Given the description of an element on the screen output the (x, y) to click on. 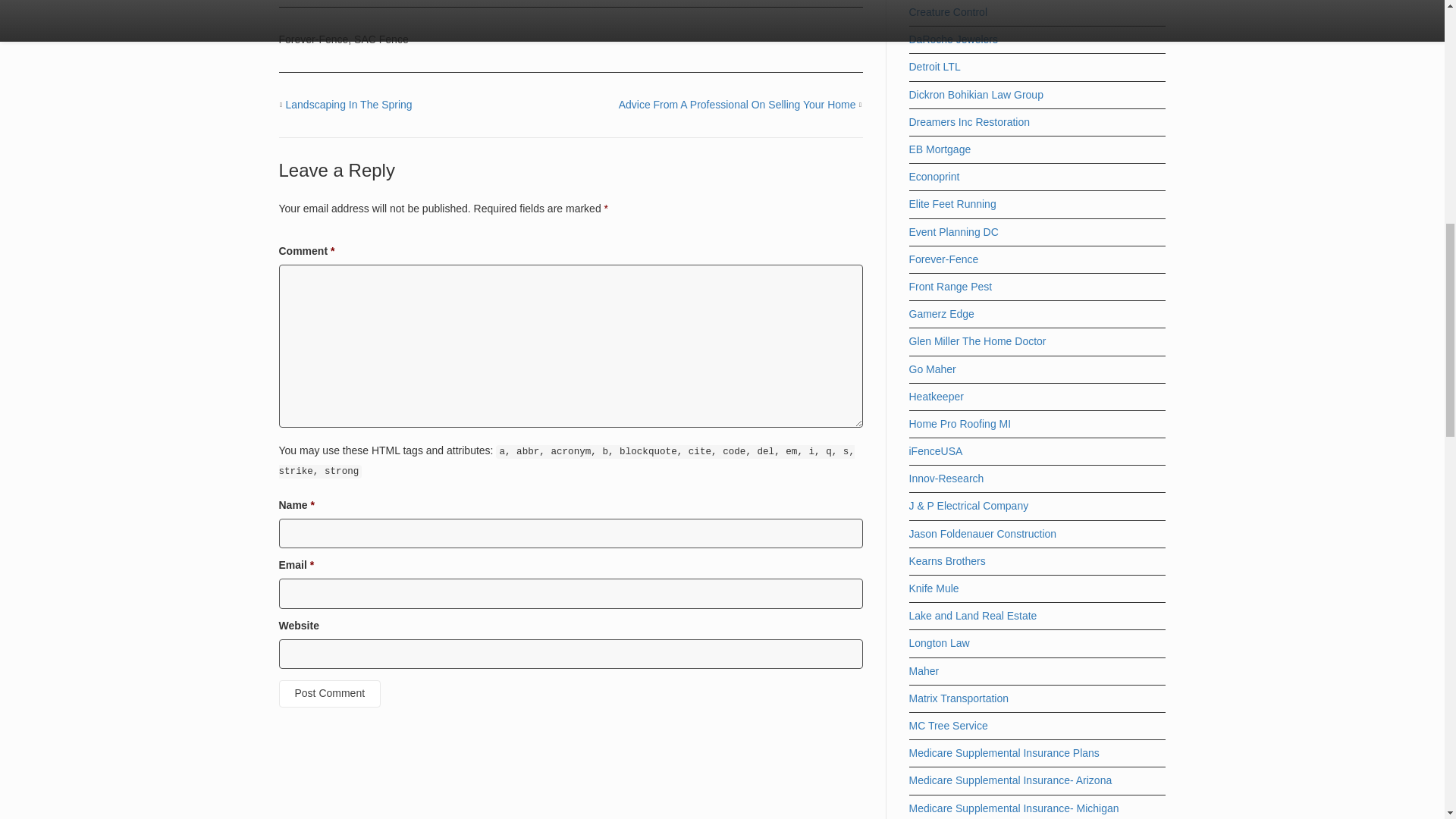
Post Comment (330, 693)
Post Comment (330, 693)
Forever-Fence (314, 39)
Advice From A Professional On Selling Your Home (737, 104)
Landscaping In The Spring (348, 104)
SAC Fence (381, 39)
